Given the description of an element on the screen output the (x, y) to click on. 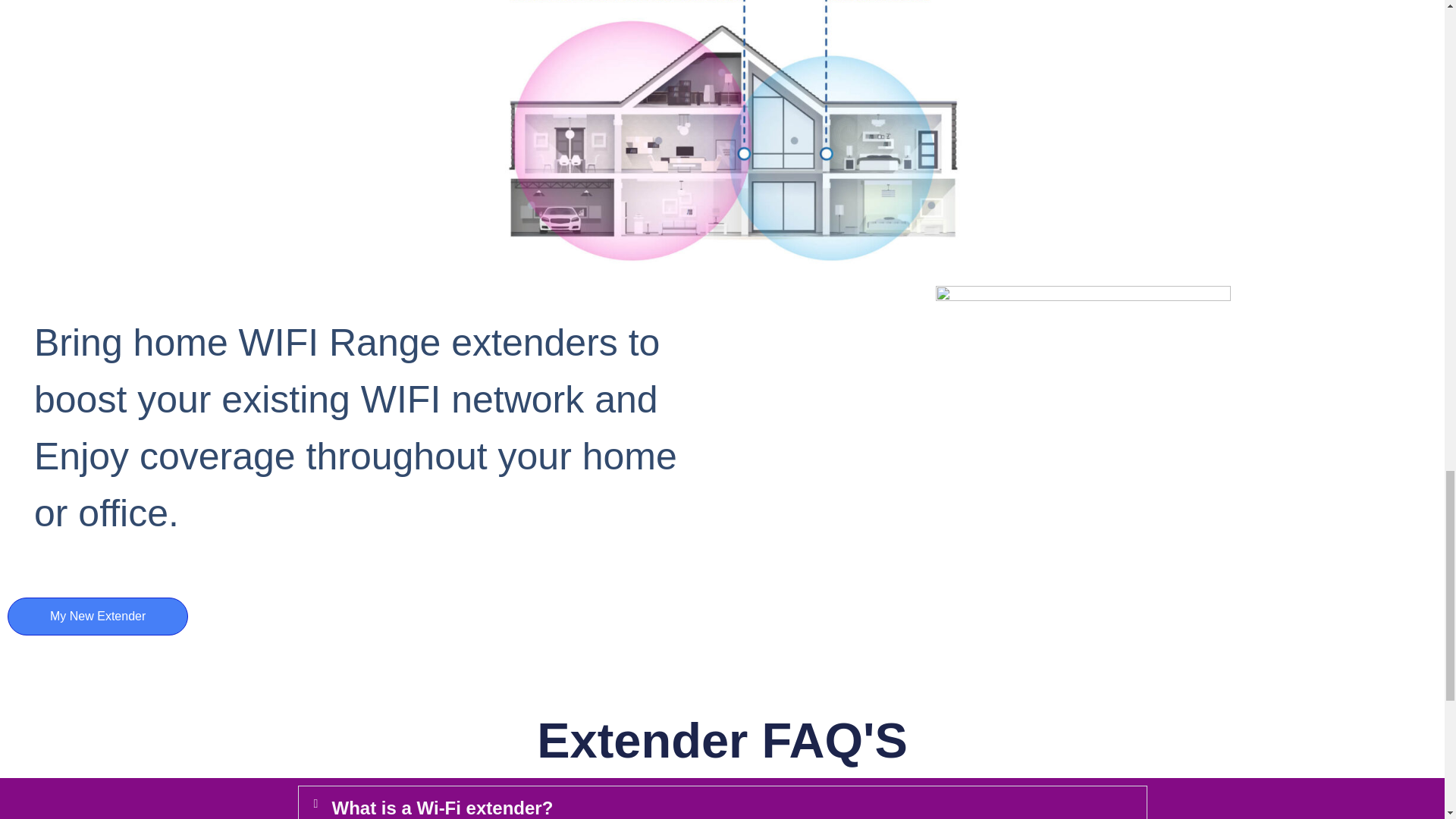
My New Extender (97, 616)
What is a Wi-Fi extender? (442, 807)
